Given the description of an element on the screen output the (x, y) to click on. 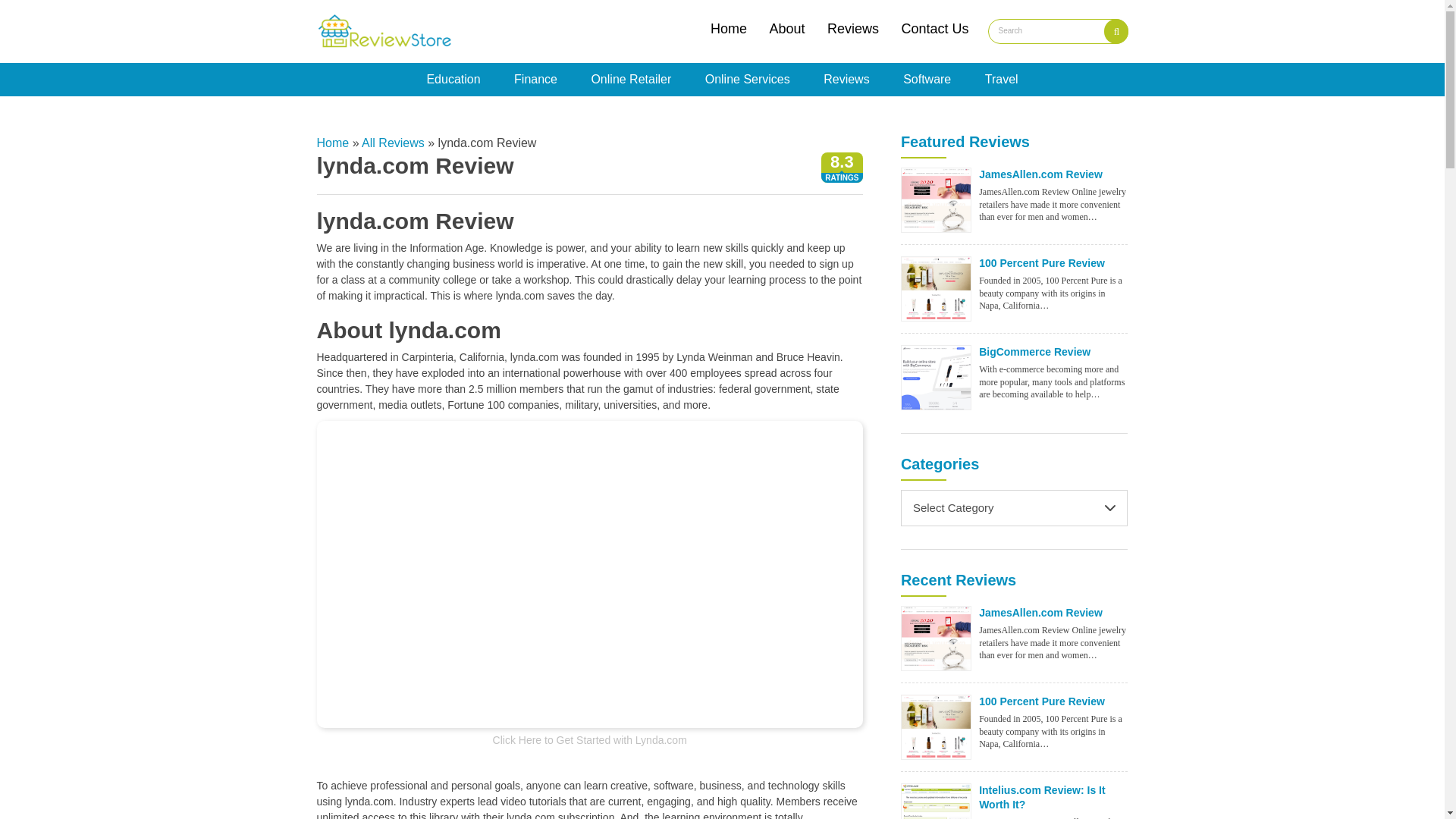
Contact Us (934, 28)
100 Percent Pure Review (1041, 263)
JamesAllen.com Review (936, 199)
BigCommerce Review (1034, 351)
Online Retailer (631, 79)
JamesAllen.com Review (1040, 174)
100 Percent Pure Review (936, 287)
BigCommerce Review (936, 377)
Click Here to Get Started with Lynda.com (590, 739)
Software (926, 79)
About (786, 28)
Education (453, 79)
Reviews (846, 79)
Home (728, 28)
All Reviews (393, 142)
